Given the description of an element on the screen output the (x, y) to click on. 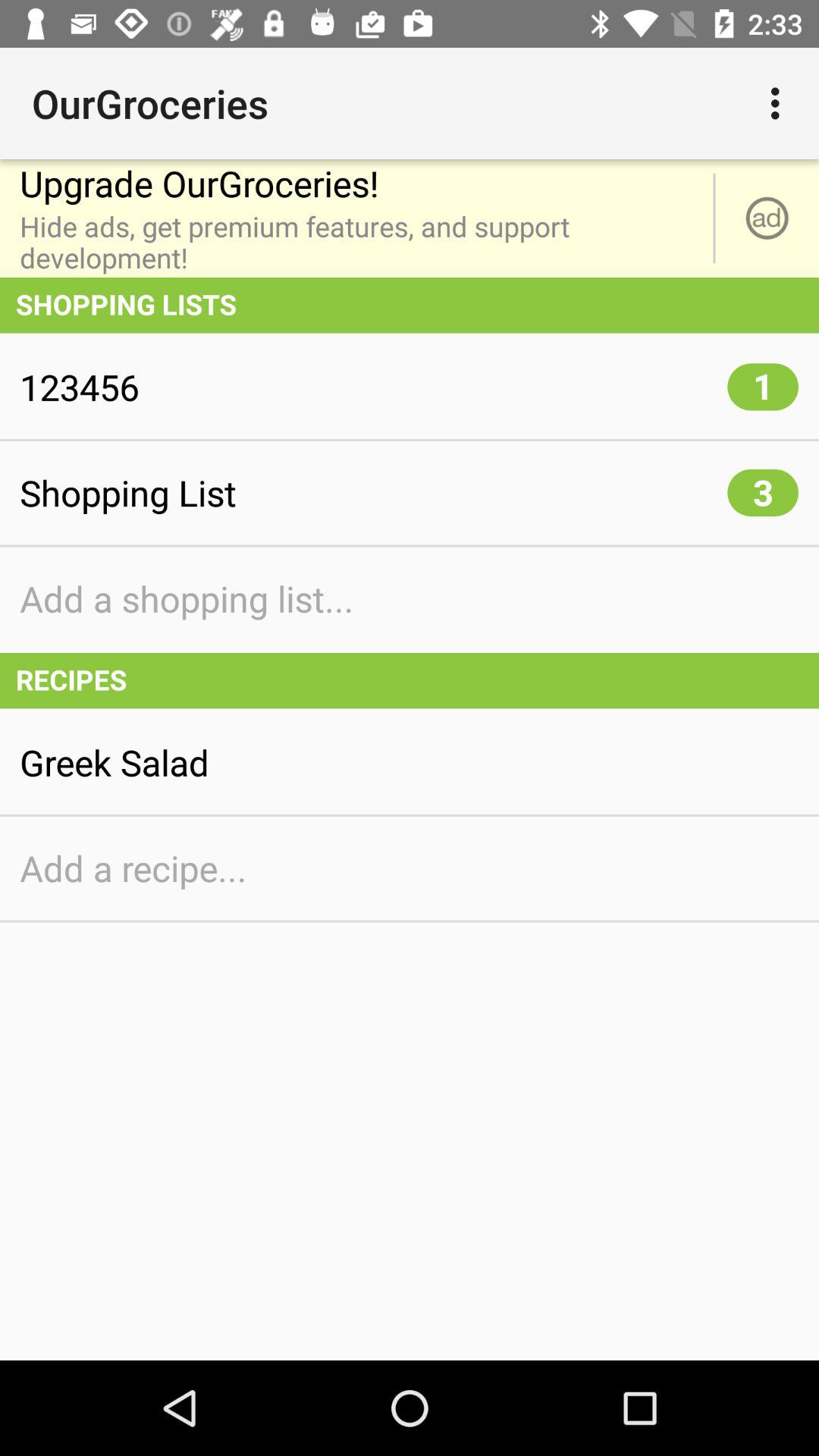
press item to the right of upgrade ourgroceries! icon (779, 103)
